Given the description of an element on the screen output the (x, y) to click on. 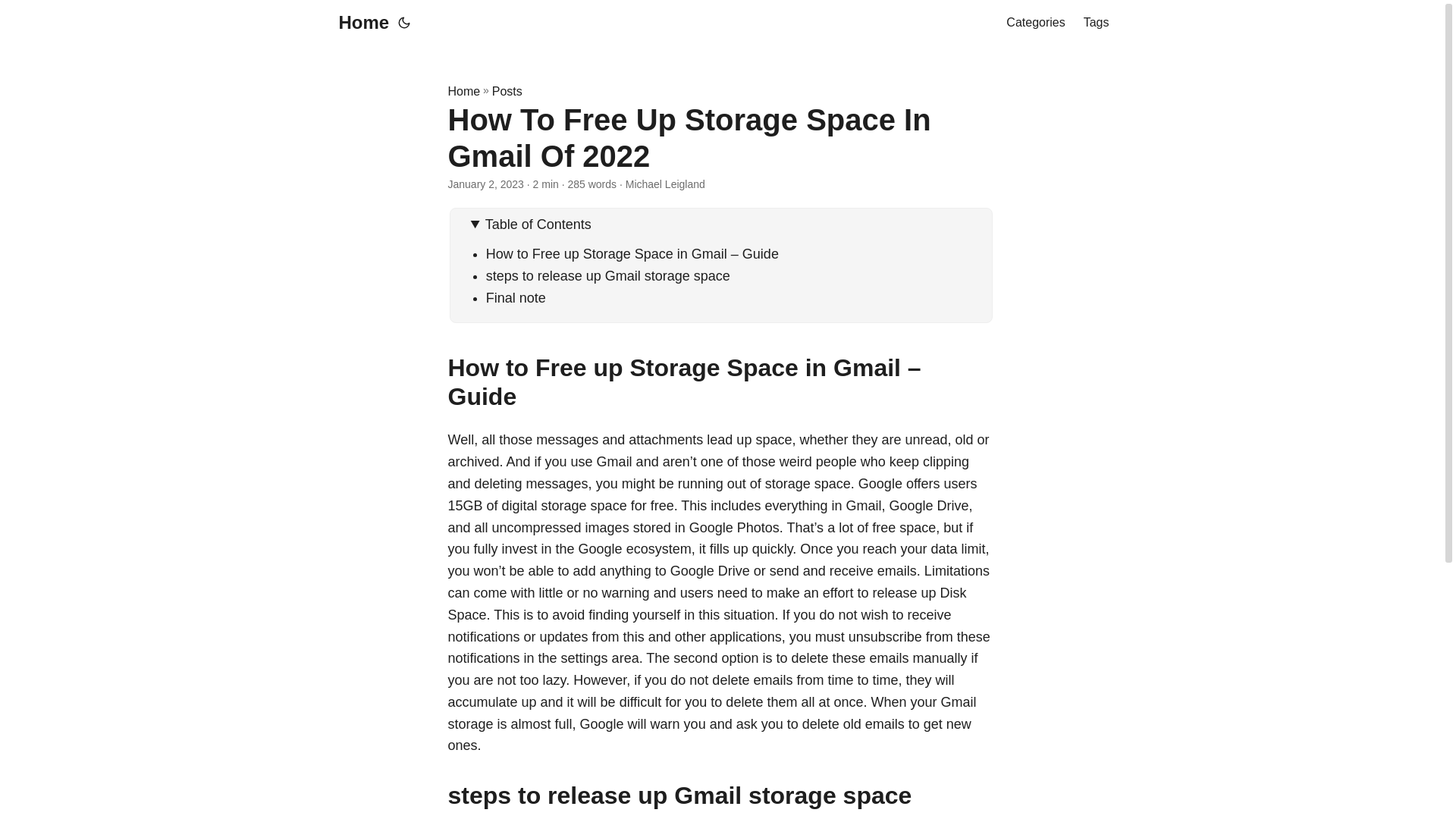
Home (463, 91)
Home (359, 22)
Categories (1035, 22)
steps to release up Gmail storage space (608, 275)
Final note (516, 297)
Posts (507, 91)
Categories (1035, 22)
